Given the description of an element on the screen output the (x, y) to click on. 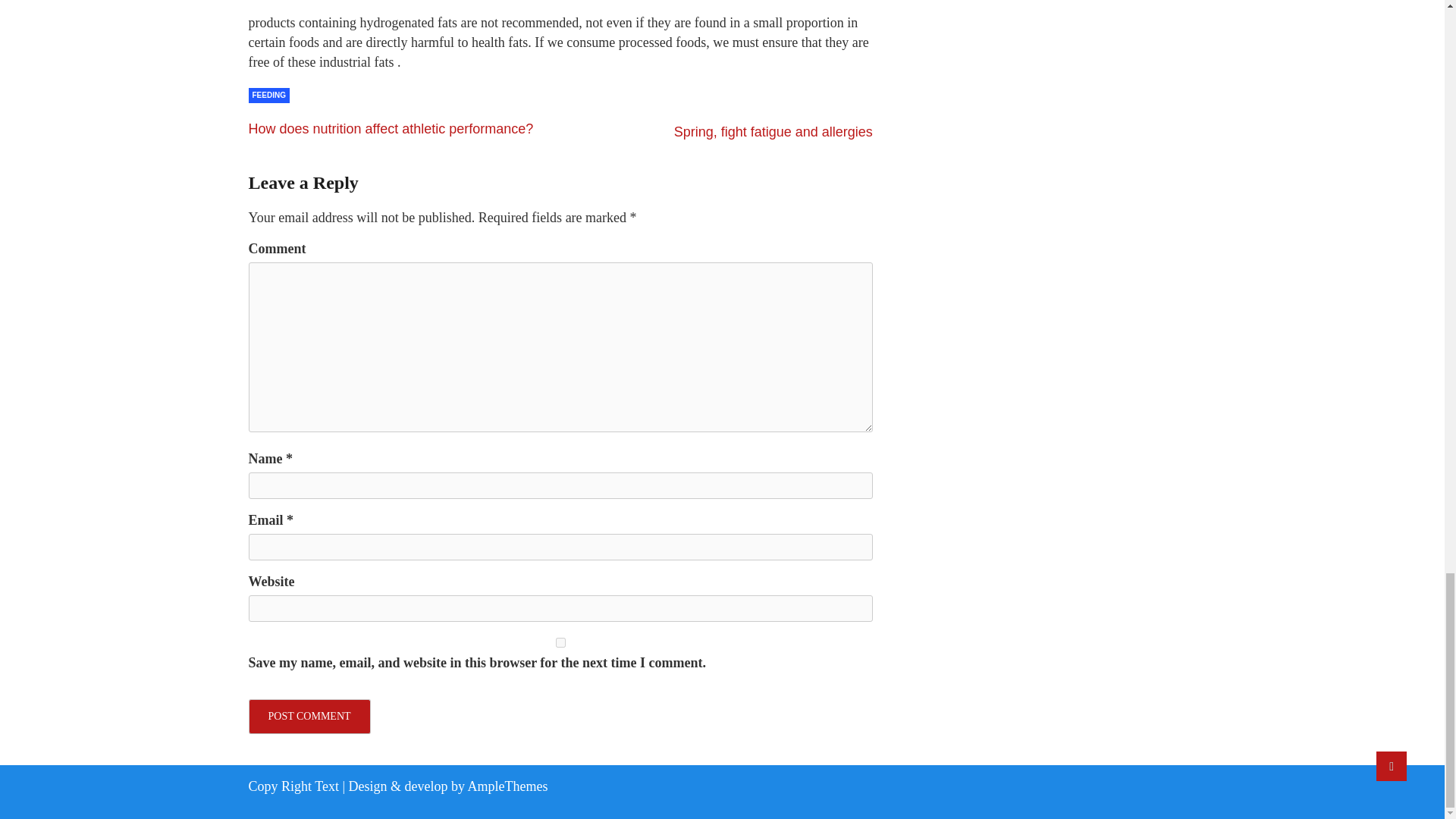
Post Comment (309, 716)
FEEDING (268, 95)
Spring, fight fatigue and allergies (773, 131)
yes (560, 642)
How does nutrition affect athletic performance? (391, 128)
Post Comment (309, 716)
